Given the description of an element on the screen output the (x, y) to click on. 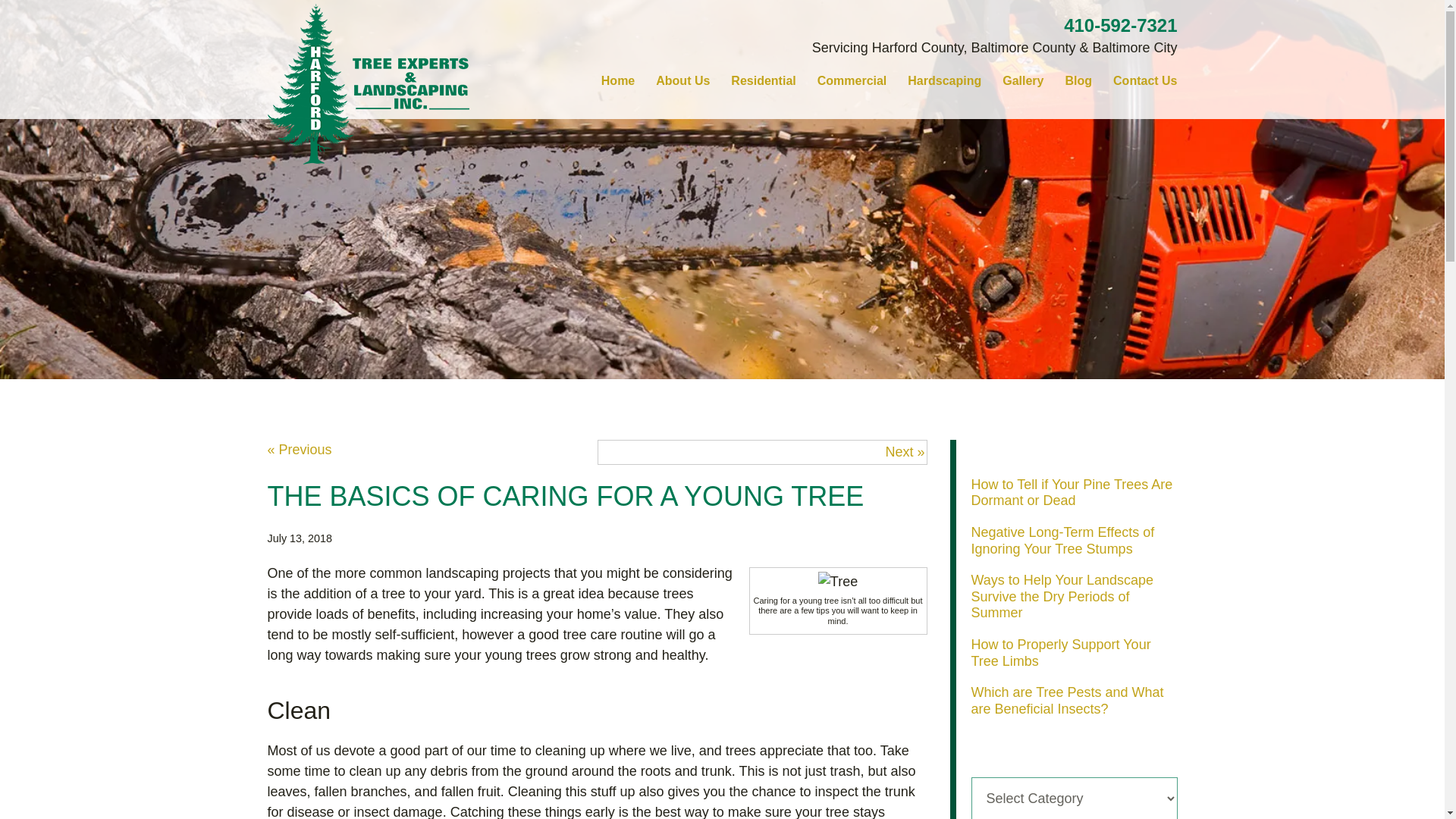
Residential (763, 80)
Hardscaping (943, 80)
Gallery (1022, 80)
How to Tell if Your Pine Trees Are Dormant or Dead (1071, 492)
Home (618, 80)
Contact Us (1145, 80)
Blog (1078, 80)
Commercial (852, 80)
About Us (682, 80)
